Given the description of an element on the screen output the (x, y) to click on. 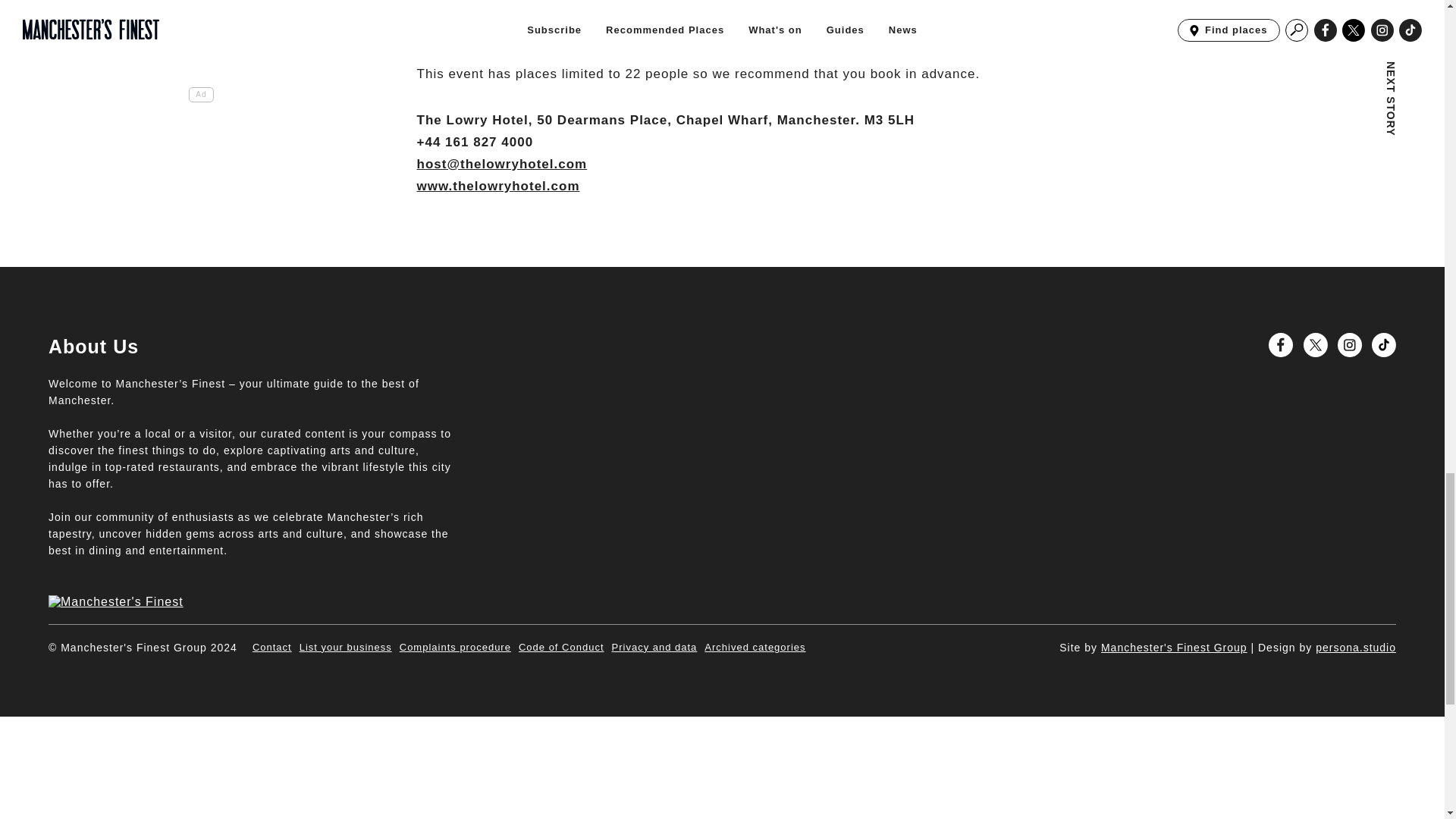
Go to Manchester's Finest Instagram profile (1349, 344)
Go to Manchester's Finest X profile (1315, 344)
Go to Manchester's Finest TikTok profile (1383, 344)
Go to Manchester's Finest Facebook page (1280, 344)
